Given the description of an element on the screen output the (x, y) to click on. 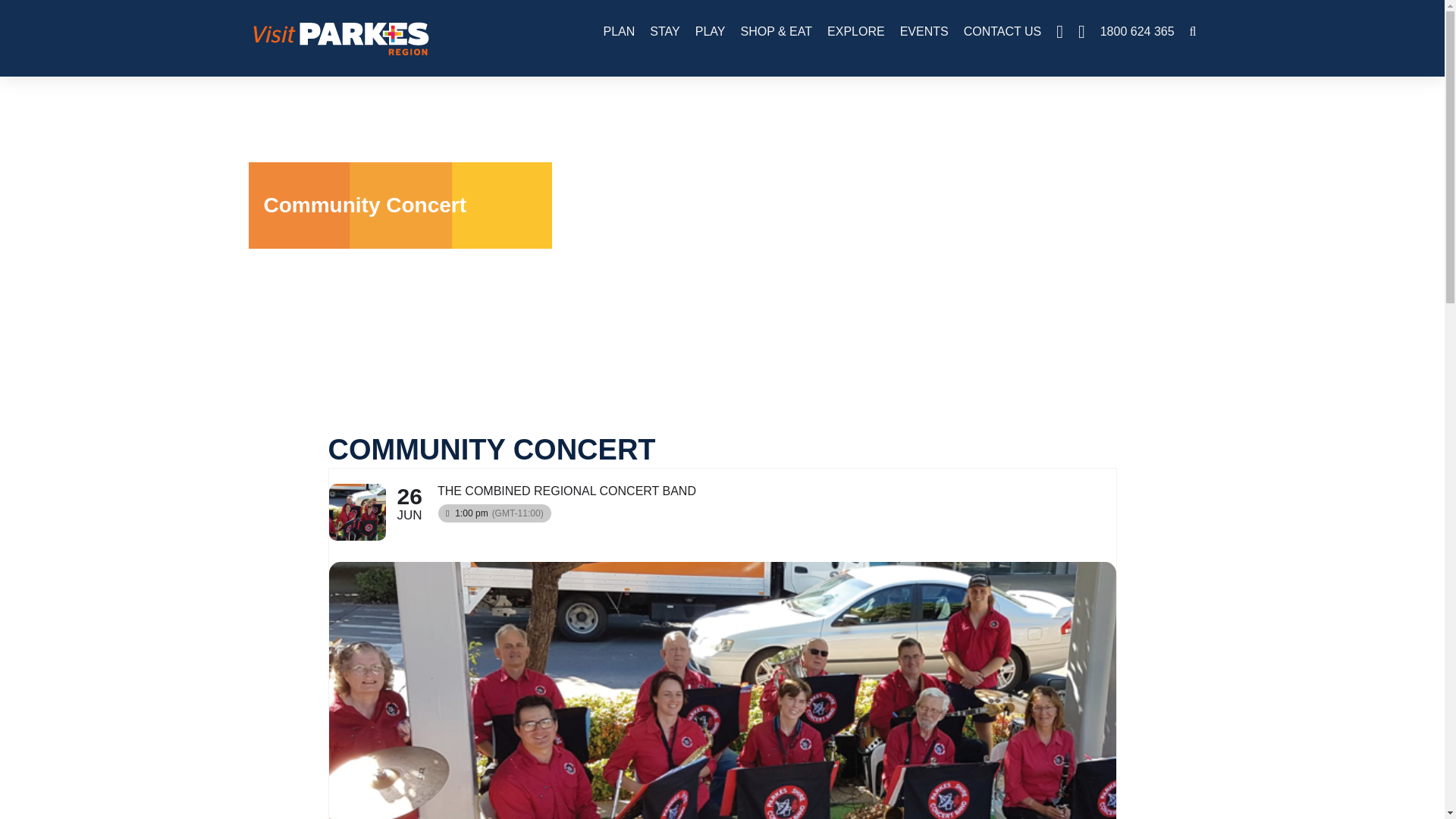
1800 624 365 (1137, 31)
EXPLORE (856, 31)
CONTACT US (1002, 31)
